Given the description of an element on the screen output the (x, y) to click on. 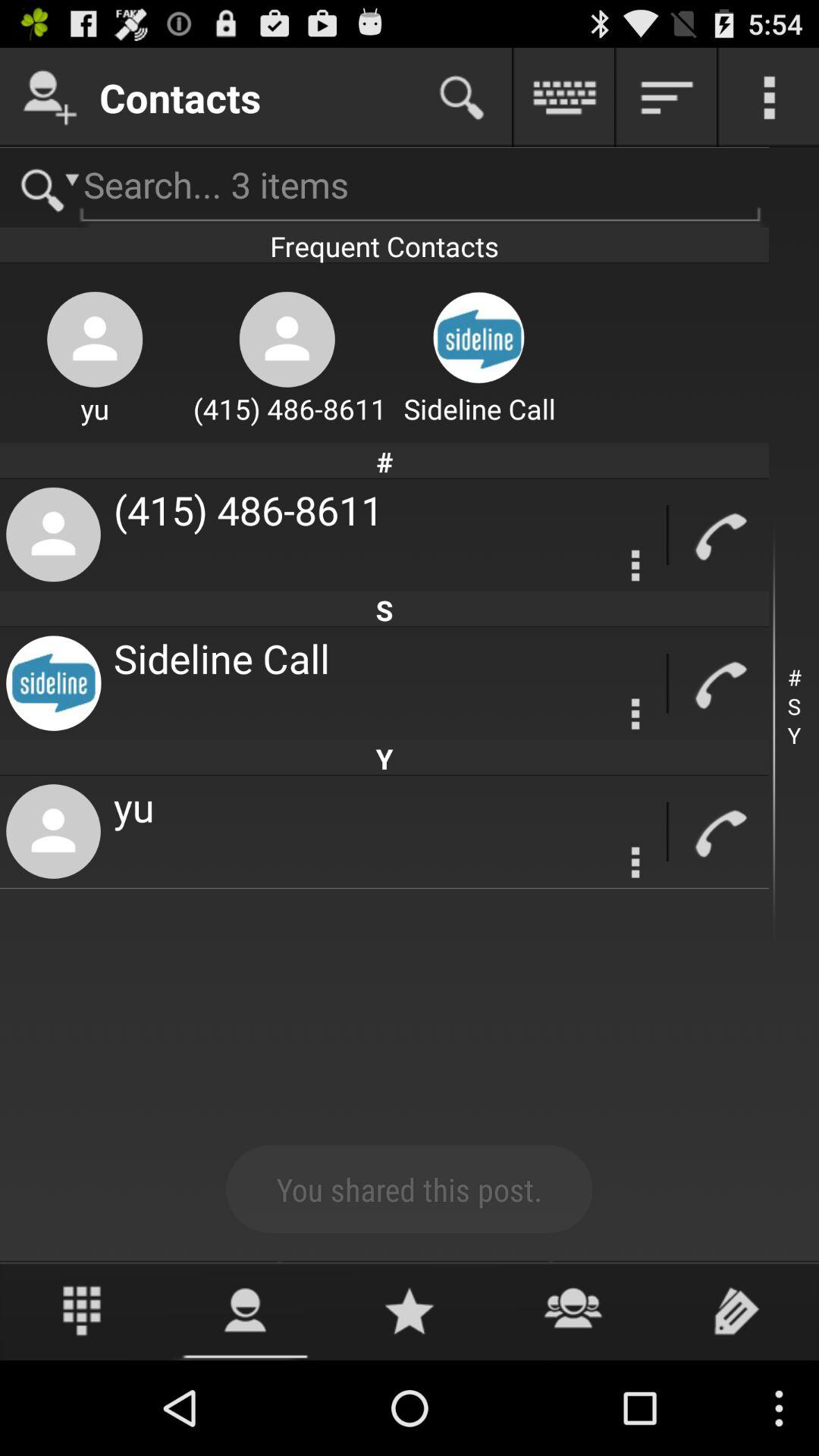
search page (43, 187)
